Given the description of an element on the screen output the (x, y) to click on. 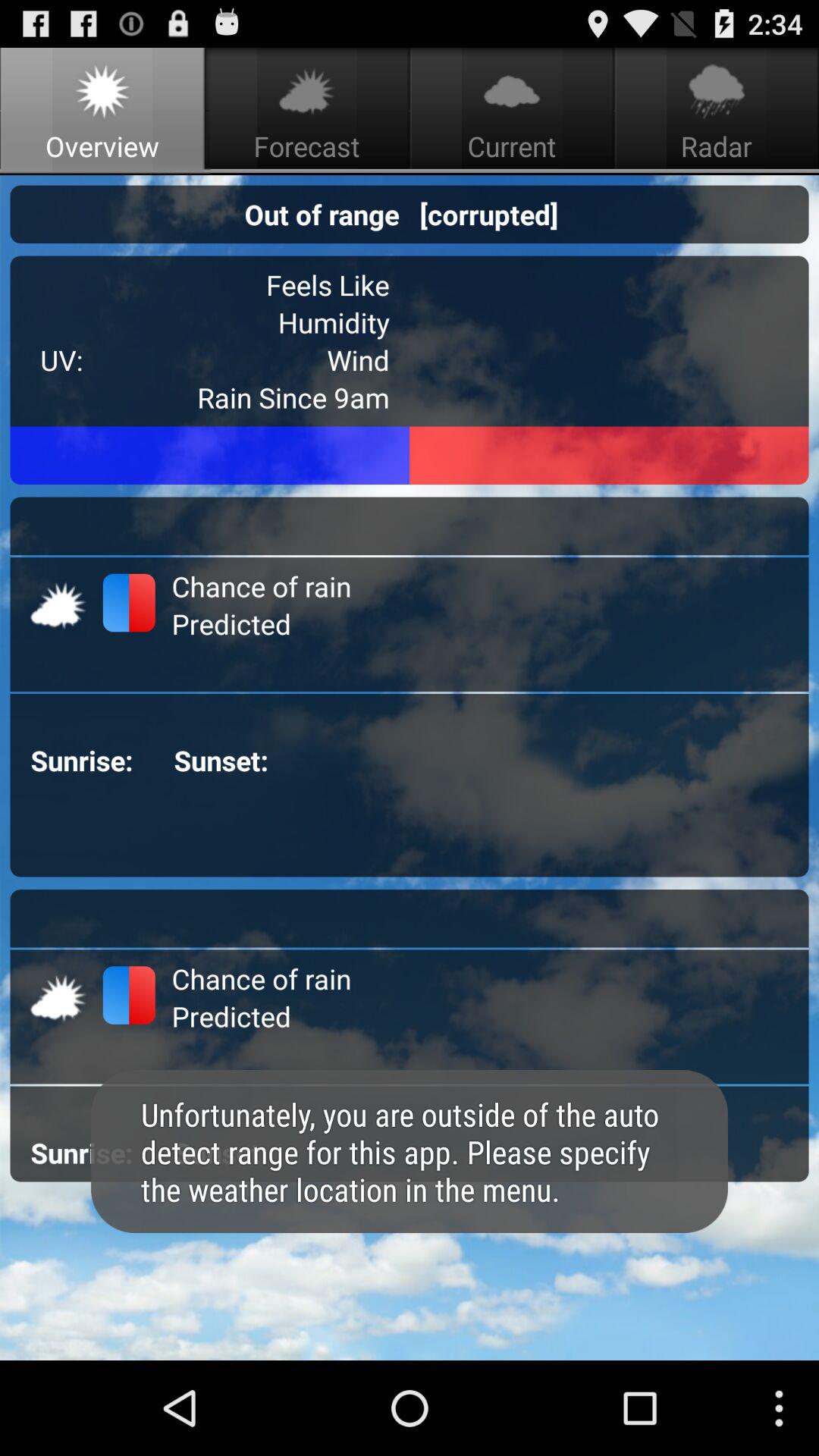
click on the icon above the text current (511, 91)
